Given the description of an element on the screen output the (x, y) to click on. 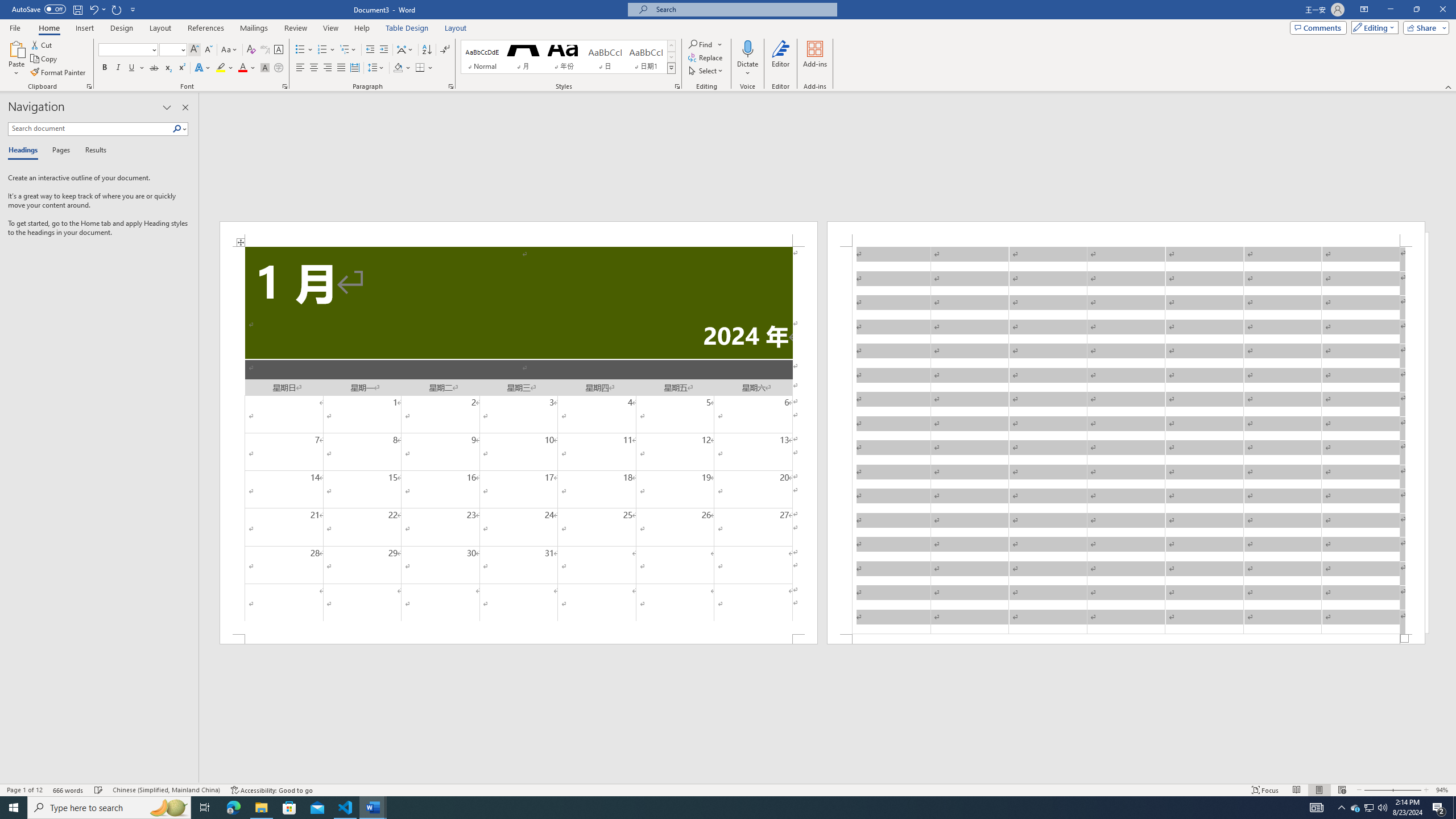
Spelling and Grammar Check Checking (98, 790)
